Given the description of an element on the screen output the (x, y) to click on. 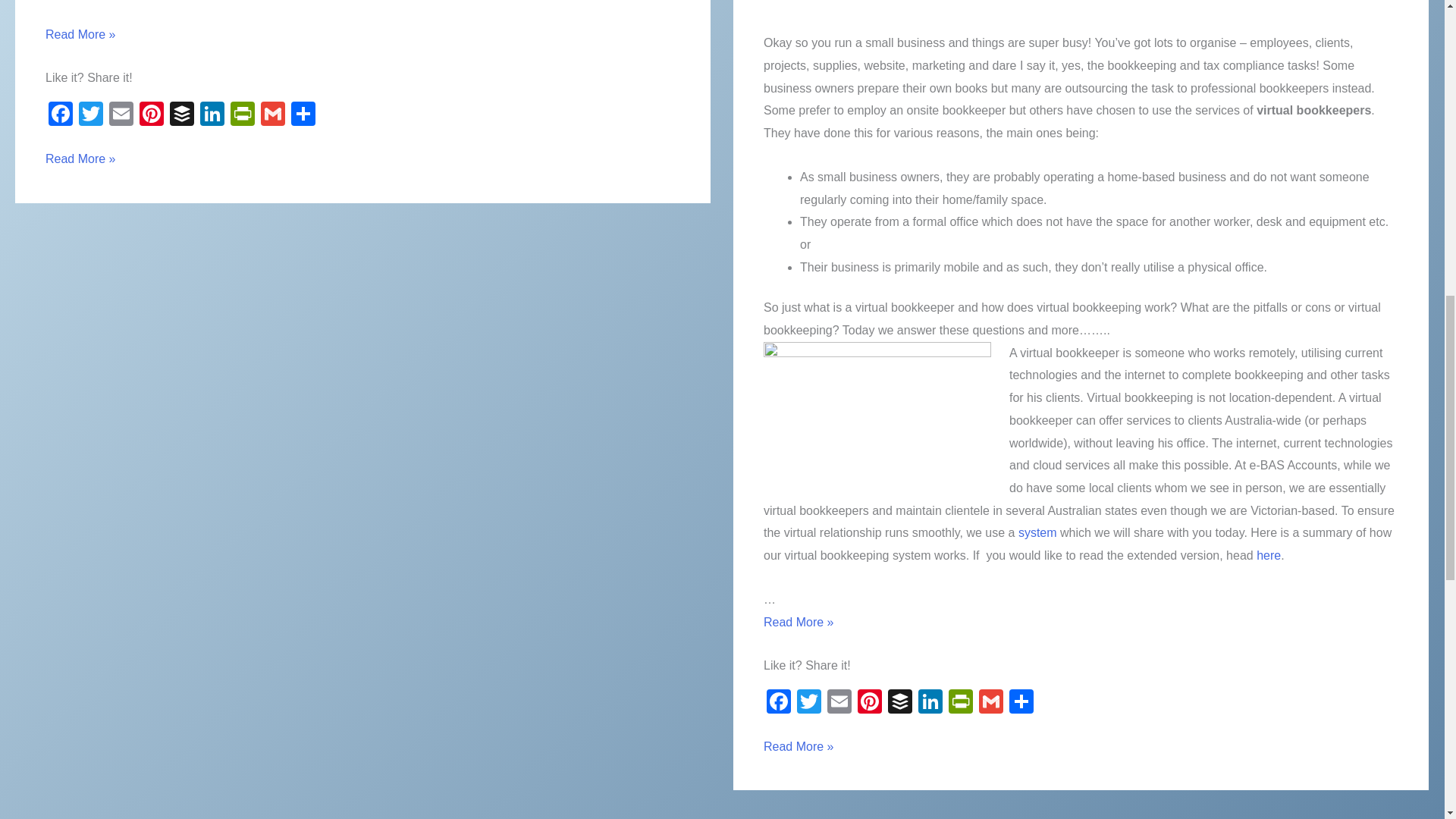
PrintFriendly (242, 115)
How to Work with Virtual Bookkeeper (1037, 532)
LinkedIn (211, 115)
Facebook (777, 703)
Buffer (181, 115)
Twitter (90, 115)
Share (303, 115)
Twitter (90, 115)
LinkedIn (211, 115)
Gmail (272, 115)
Pinterest (151, 115)
How to Work with Virtual Bookkeeper (1268, 554)
Email (121, 115)
Pinterest (151, 115)
Buffer (181, 115)
